Given the description of an element on the screen output the (x, y) to click on. 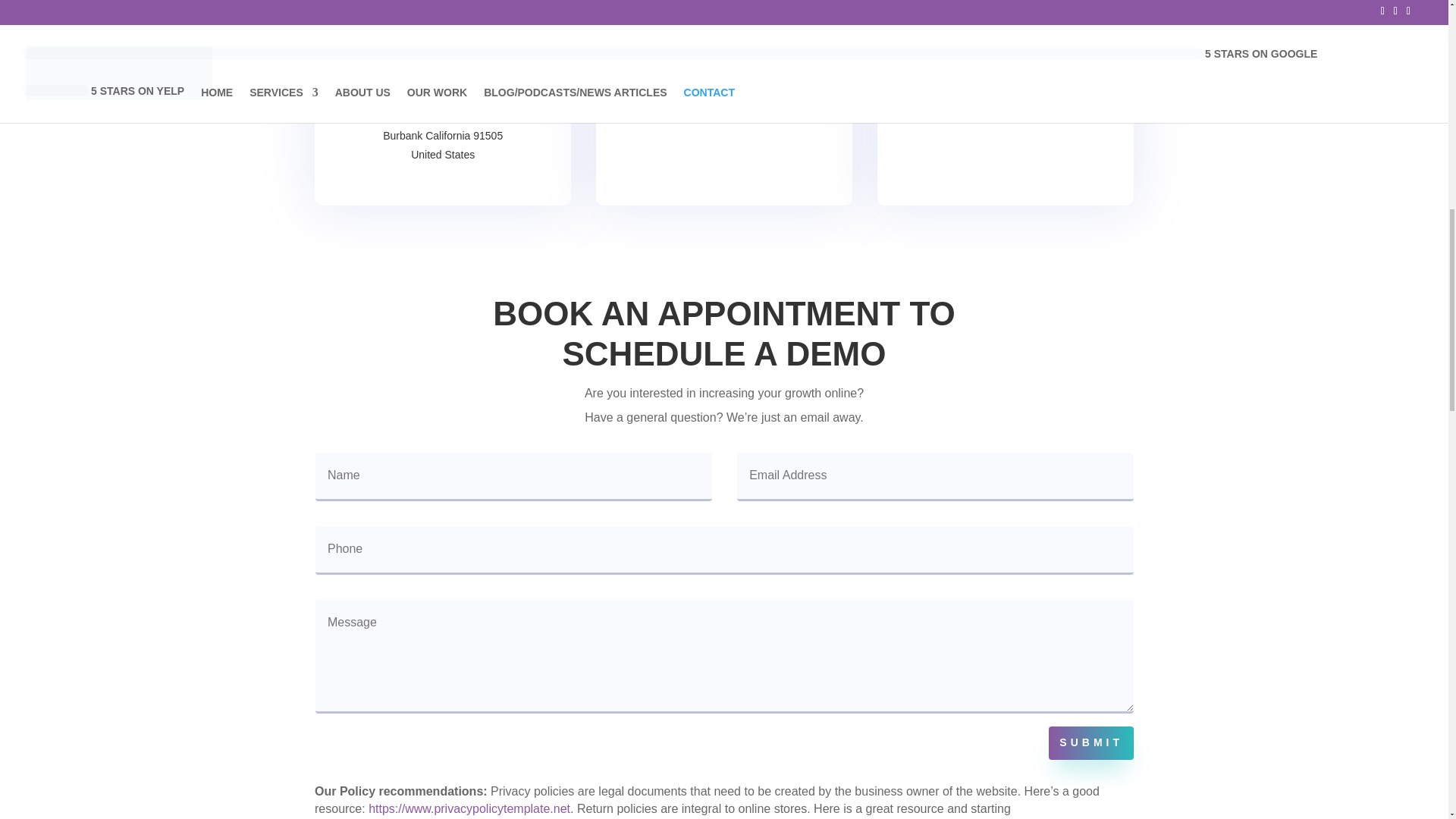
SUBMIT (1091, 743)
